Given the description of an element on the screen output the (x, y) to click on. 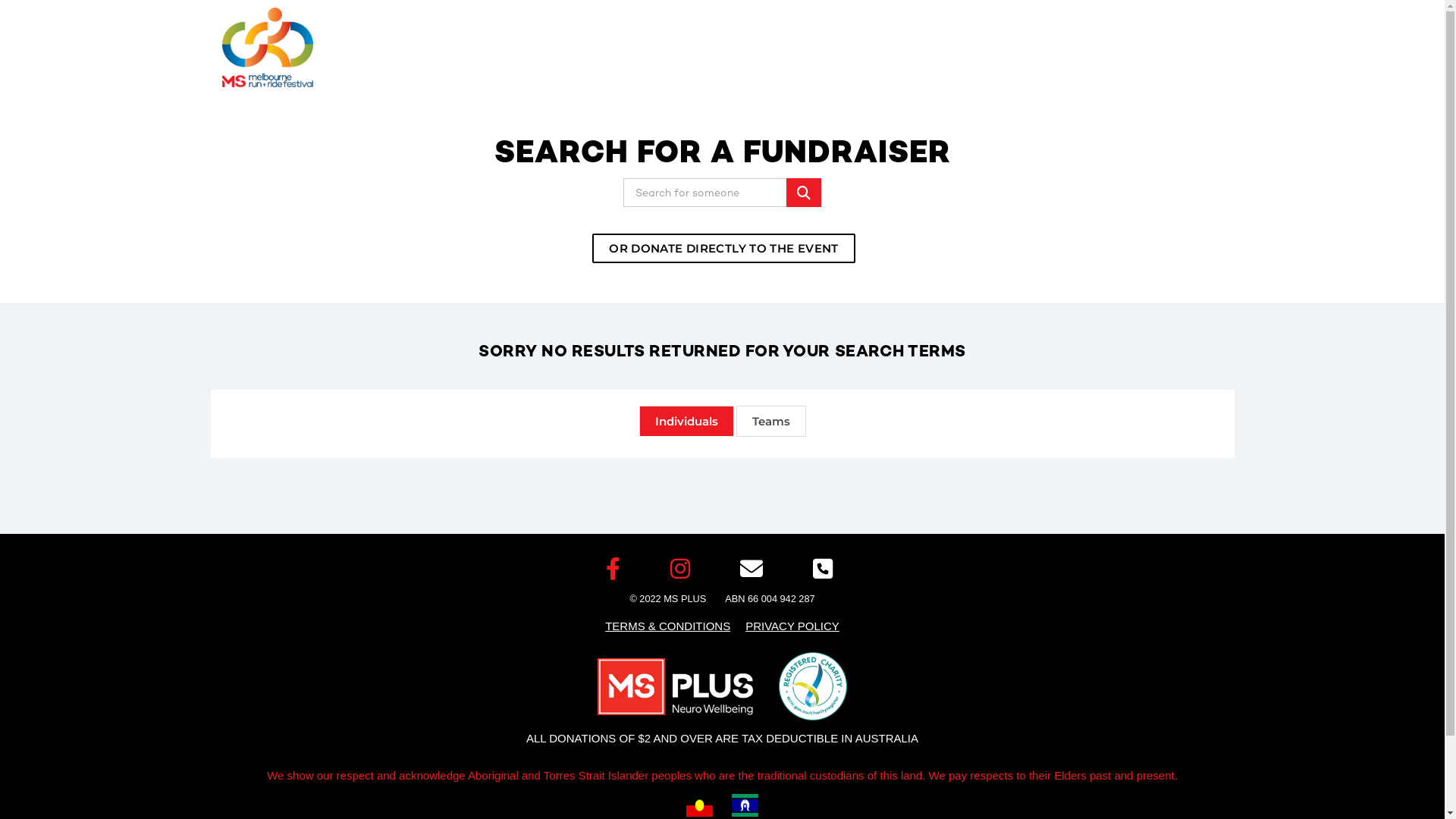
Torres Strait Islander flag Element type: hover (741, 804)
PRIVACY POLICY Element type: text (792, 625)
  Element type: text (754, 568)
Aboriginal flag Element type: hover (703, 804)
Individuals Element type: text (685, 420)
OR DONATE DIRECTLY TO THE EVENT Element type: text (723, 248)
  Element type: text (825, 568)
Teams Element type: text (770, 420)
  Element type: text (683, 568)
  Element type: text (615, 568)
TERMS & CONDITIONS Element type: text (667, 625)
